Given the description of an element on the screen output the (x, y) to click on. 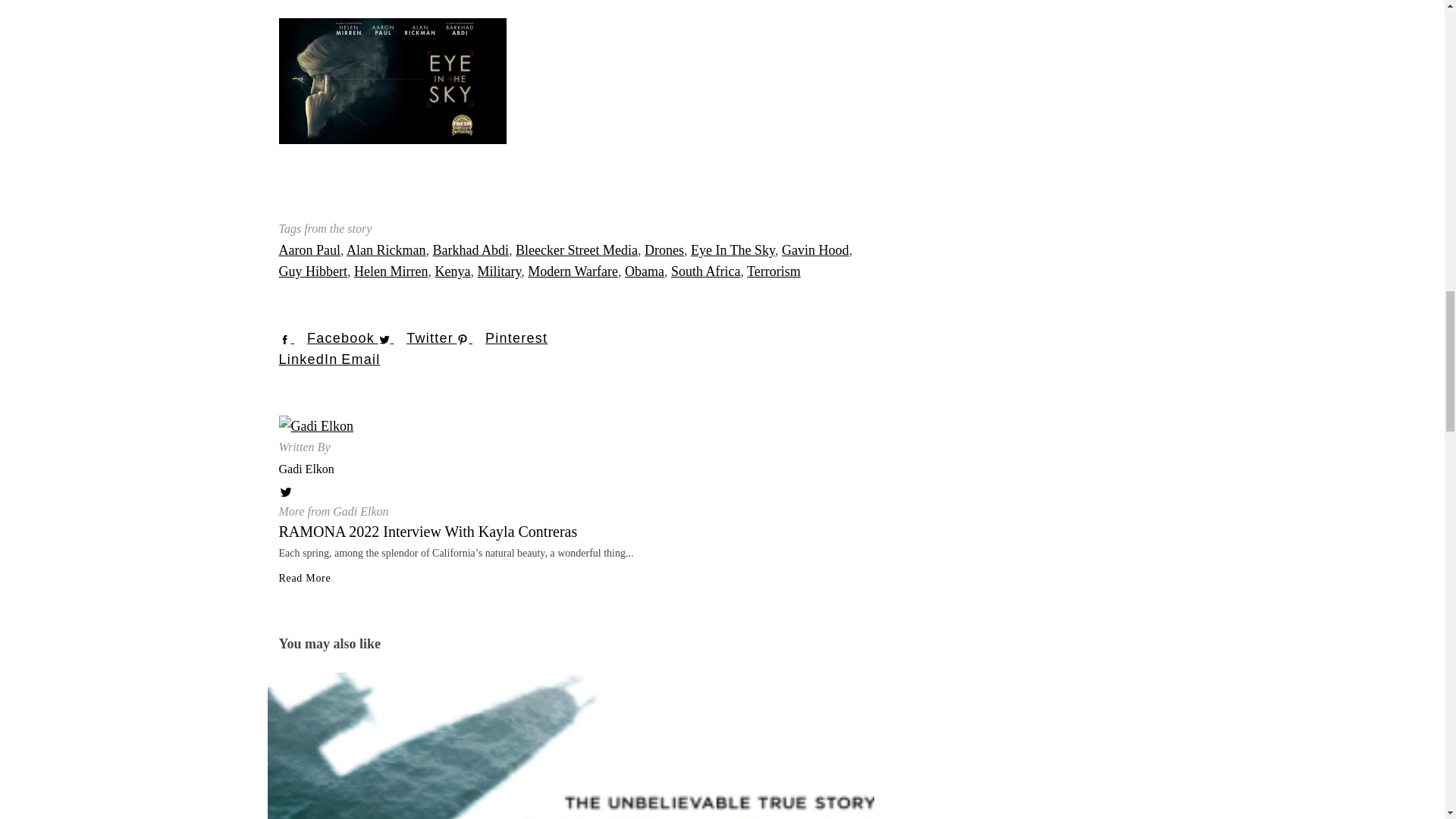
EYE IN THE SKY - A Review By Gadi Elkon 1 (392, 81)
UNBROKEN 3 (569, 745)
